Given the description of an element on the screen output the (x, y) to click on. 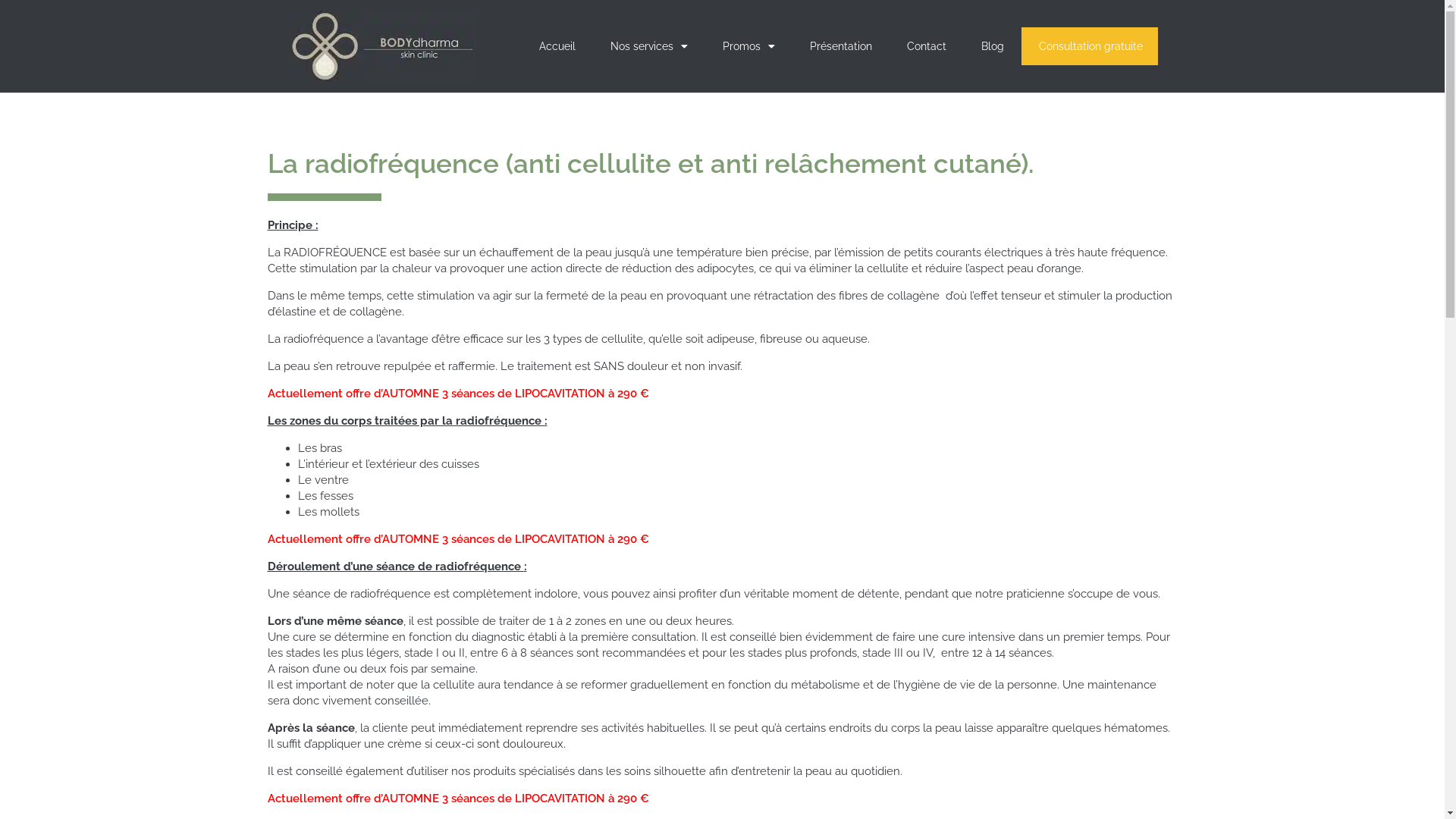
Contact Element type: text (926, 46)
Blog Element type: text (992, 46)
Accueil Element type: text (557, 46)
Consultation gratuite Element type: text (1090, 46)
Nos services Element type: text (648, 46)
Promos Element type: text (748, 46)
